Given the description of an element on the screen output the (x, y) to click on. 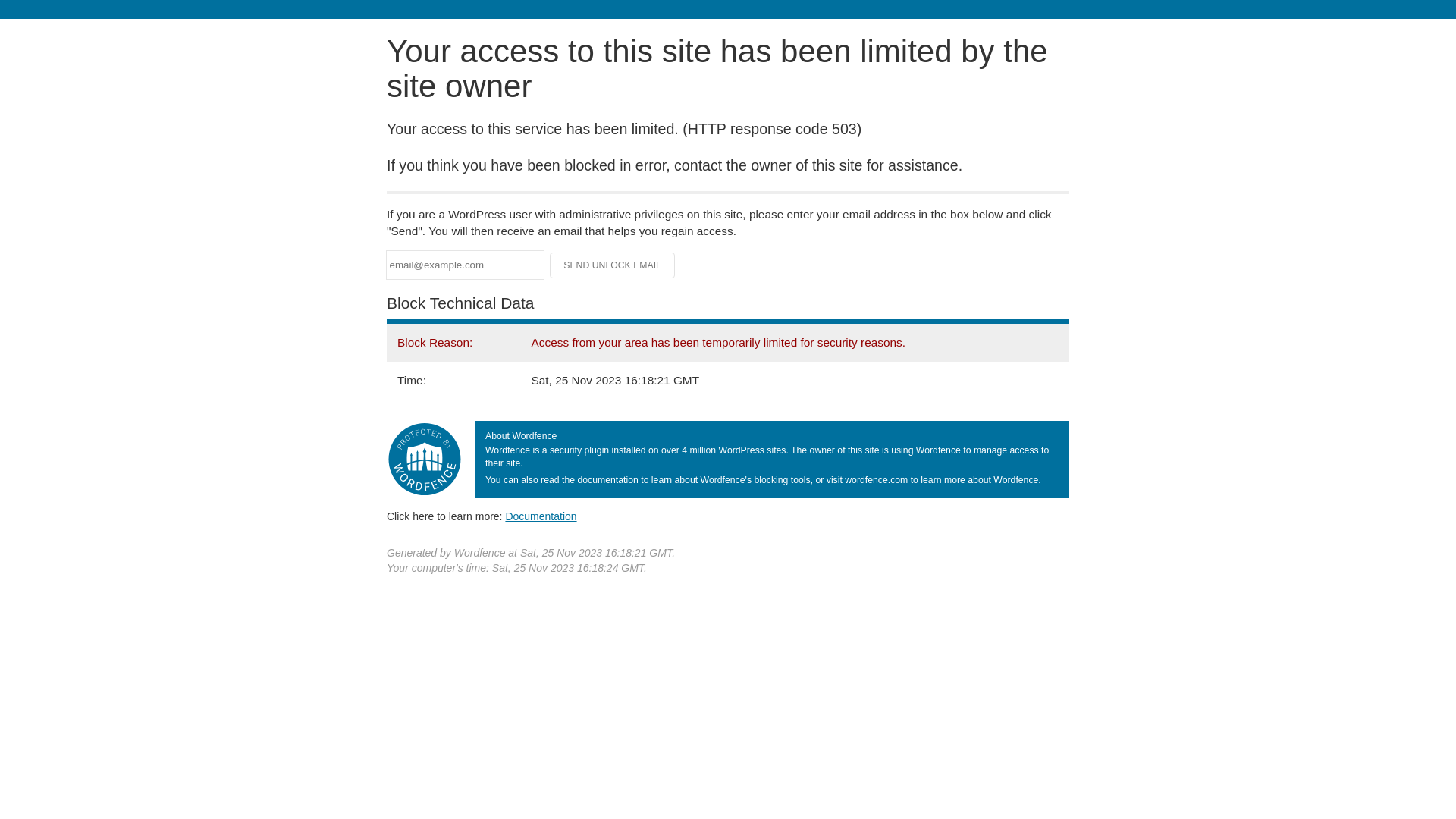
Send Unlock Email Element type: text (612, 265)
Documentation Element type: text (540, 516)
